Given the description of an element on the screen output the (x, y) to click on. 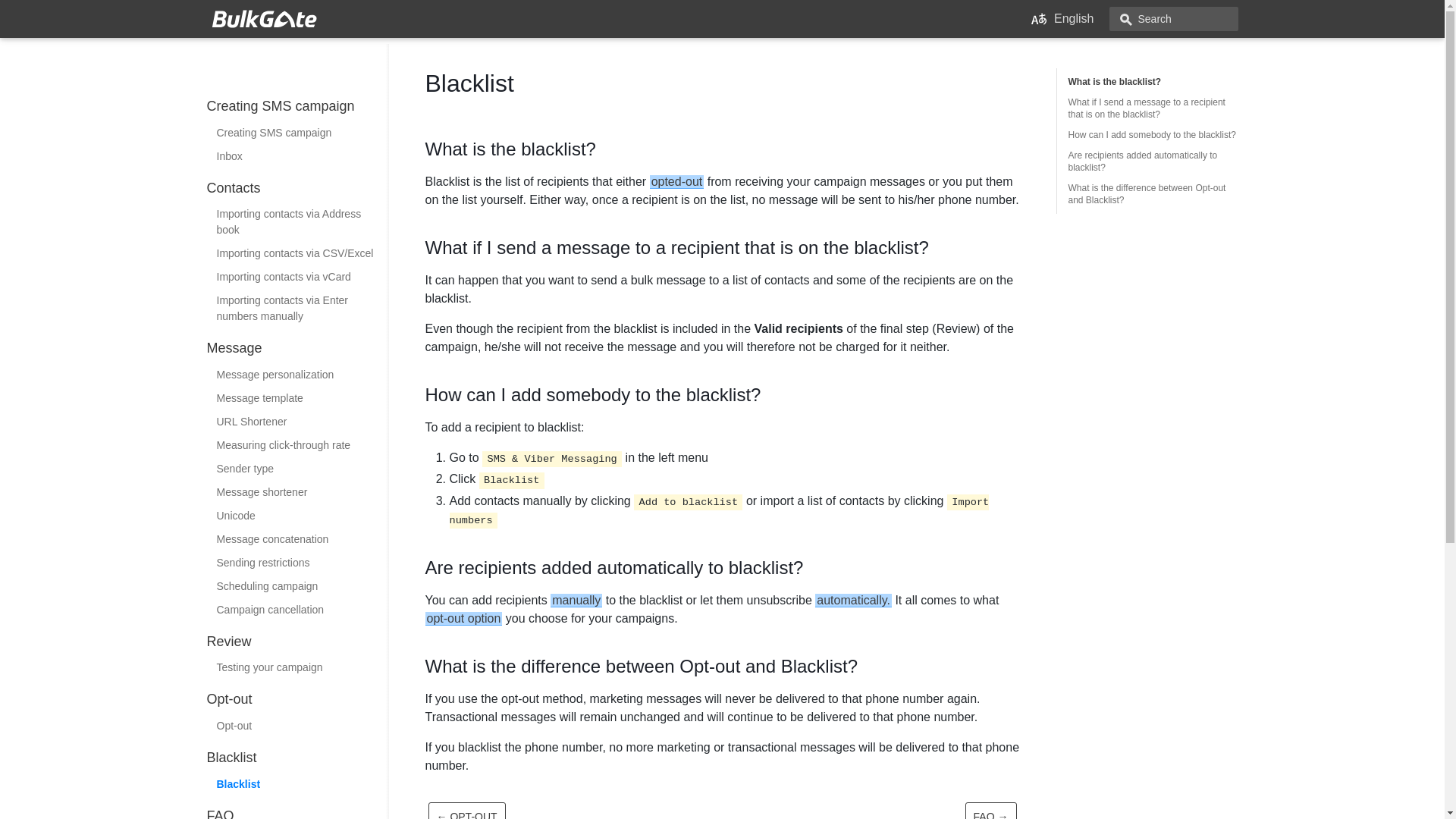
Creating SMS campaign (296, 132)
Importing contacts via Enter numbers manually (296, 308)
Sender type (296, 468)
English (1061, 18)
Message shortener (296, 492)
Blacklist (296, 784)
URL Shortener (296, 422)
Sending restrictions (296, 562)
Measuring click-through rate (296, 445)
Opt-out (296, 725)
Importing contacts via vCard (296, 277)
Campaign cancellation (296, 609)
Scheduling campaign (296, 586)
Message concatenation (296, 539)
Message template (296, 398)
